Given the description of an element on the screen output the (x, y) to click on. 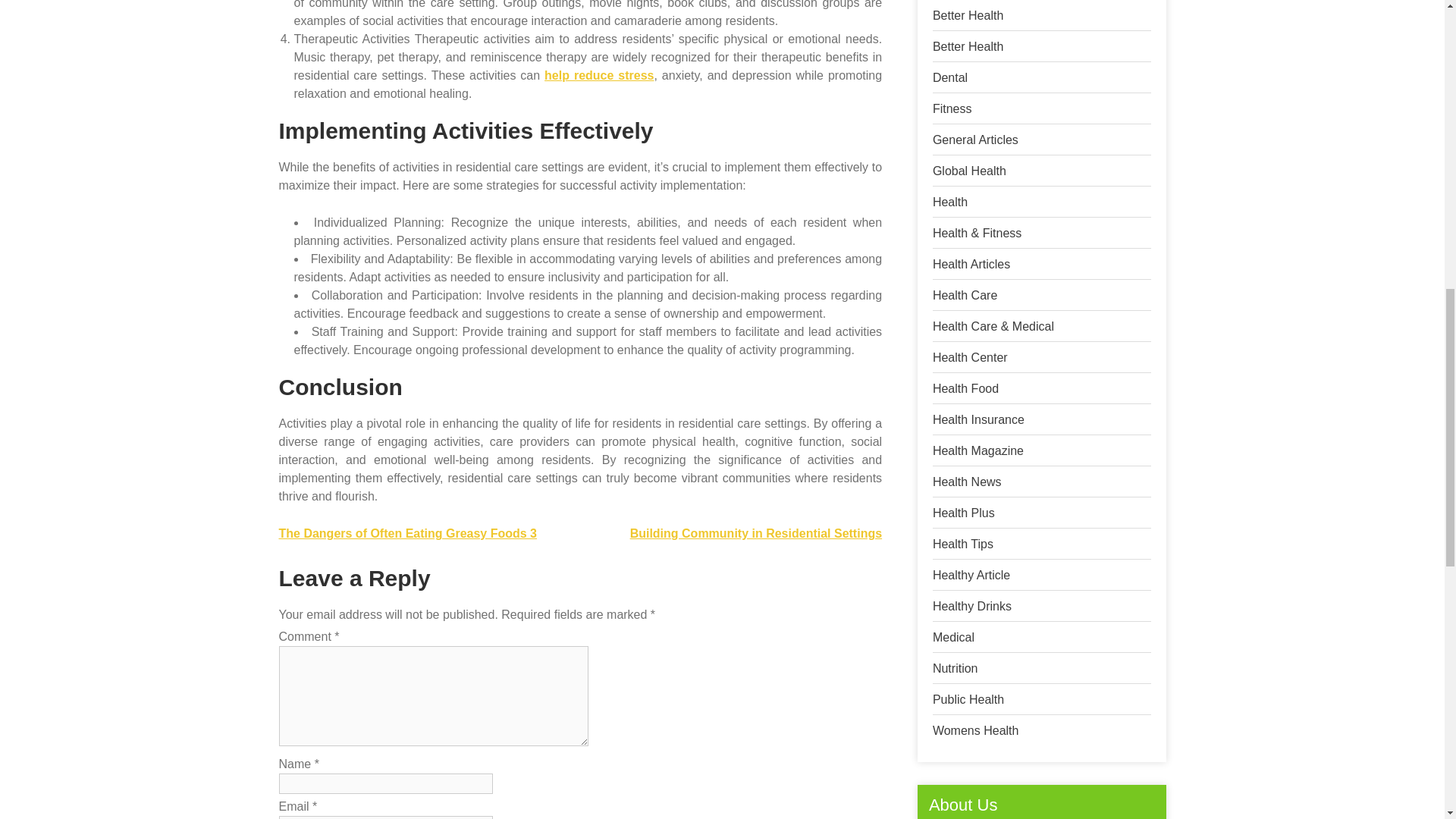
help reduce stress (598, 74)
Building Community in Residential Settings (756, 533)
The Dangers of Often Eating Greasy Foods 3 (408, 533)
